Given the description of an element on the screen output the (x, y) to click on. 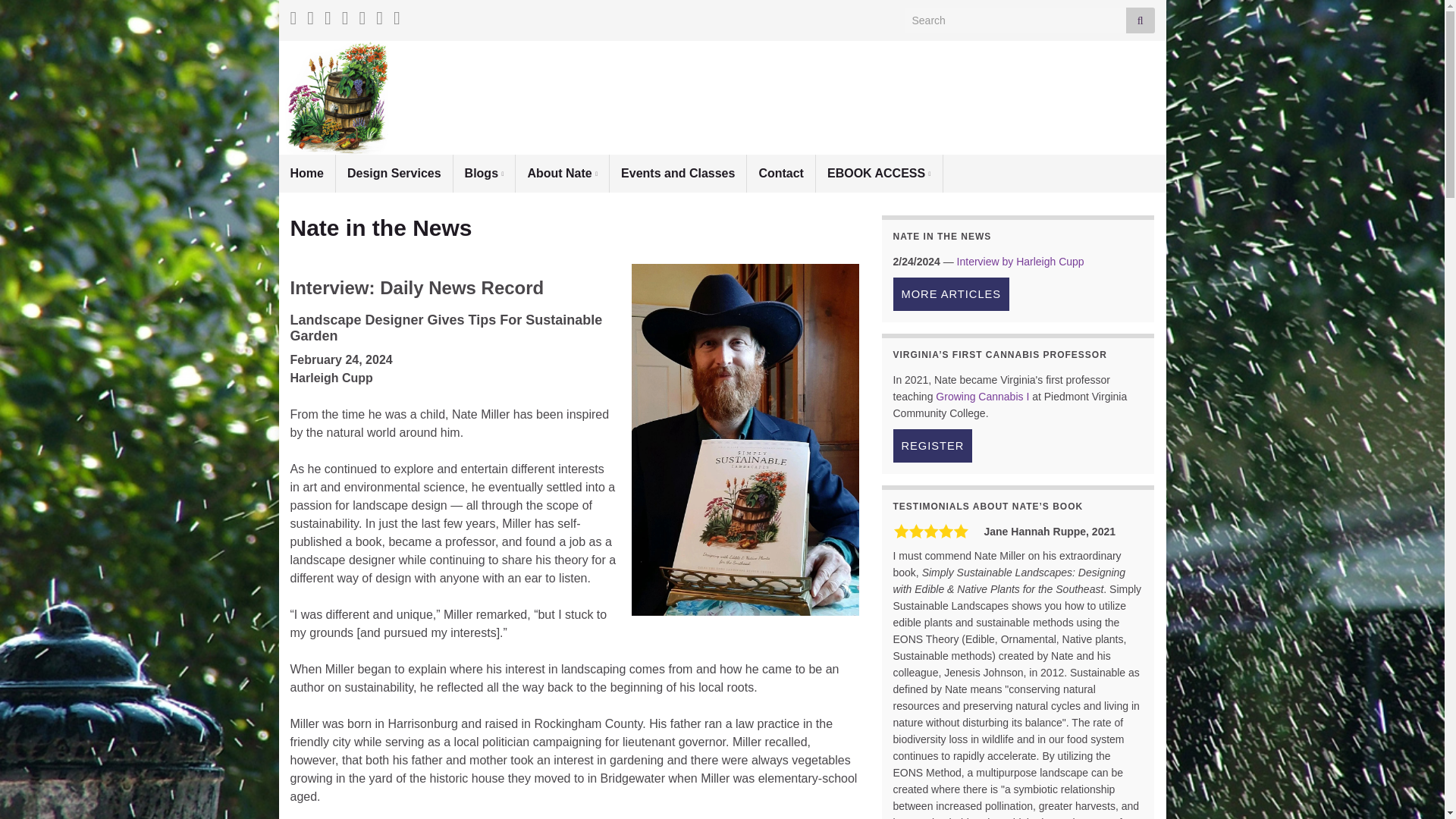
About Nate (561, 173)
Design Services (394, 173)
EBOOK ACCESS (878, 173)
Simply Sustainable Landscapes (721, 88)
REGISTER (932, 445)
Go back to the front page (721, 88)
header-01 (722, 97)
Contact (780, 173)
Blogs (483, 173)
Growing Cannabis I (982, 396)
Home (306, 173)
Events and Classes (677, 173)
MORE ARTICLES (951, 294)
Interview by Harleigh Cupp (1020, 261)
